Given the description of an element on the screen output the (x, y) to click on. 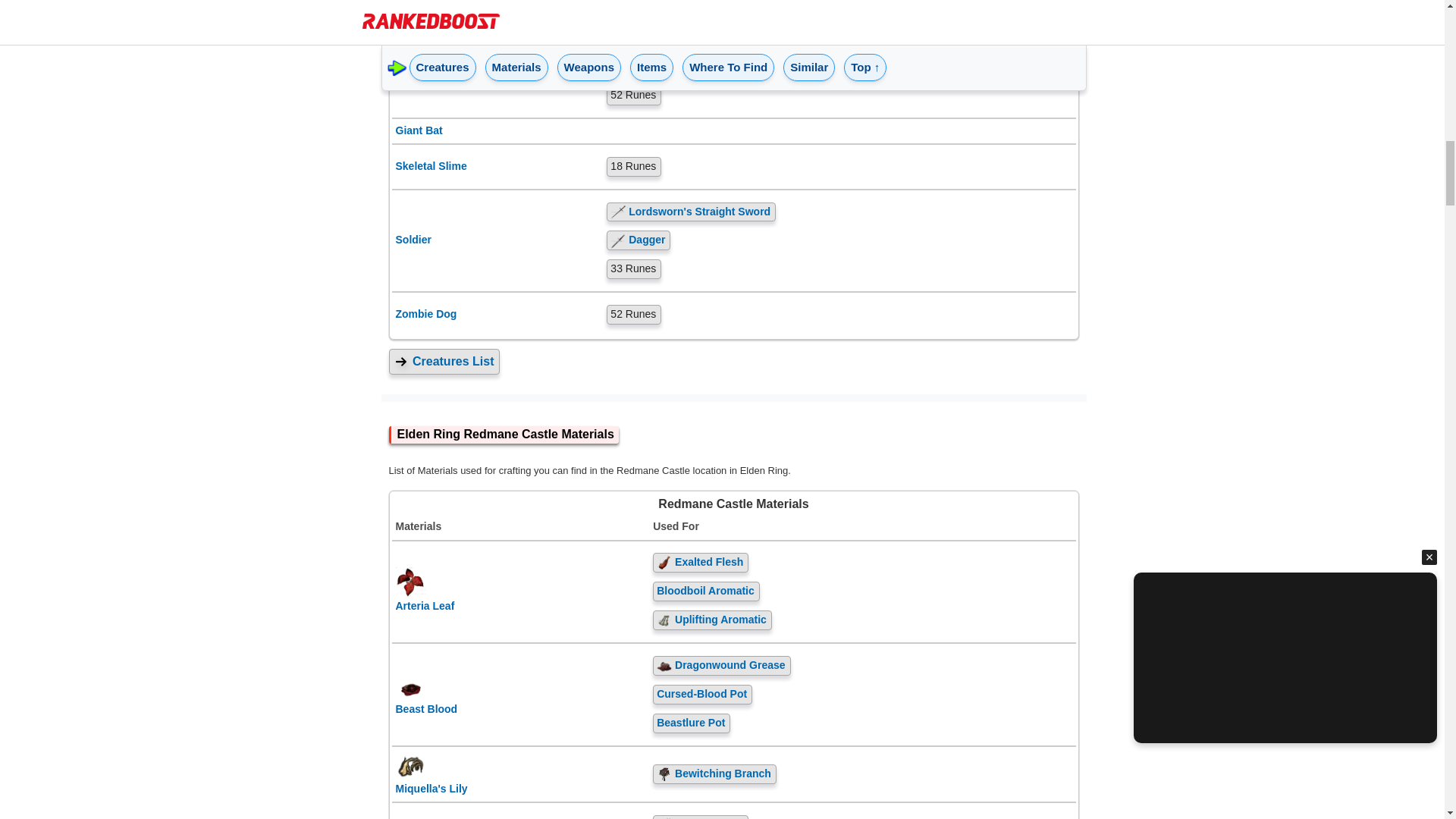
Zombie Dog (497, 314)
Dog (497, 66)
Uplifting Aromatic (861, 619)
Arteria Leaf (521, 595)
Creatures List (733, 360)
Lump of Flesh (839, 66)
Dagger (839, 240)
Thin Animal Bones (839, 37)
Beast Blood (521, 699)
Giant Bat (497, 131)
Bloodboil Aromatic (861, 591)
Skeletal Slime (497, 167)
Soldier (497, 239)
Lordsworn's Straight Sword (839, 211)
Exalted Flesh (861, 562)
